Given the description of an element on the screen output the (x, y) to click on. 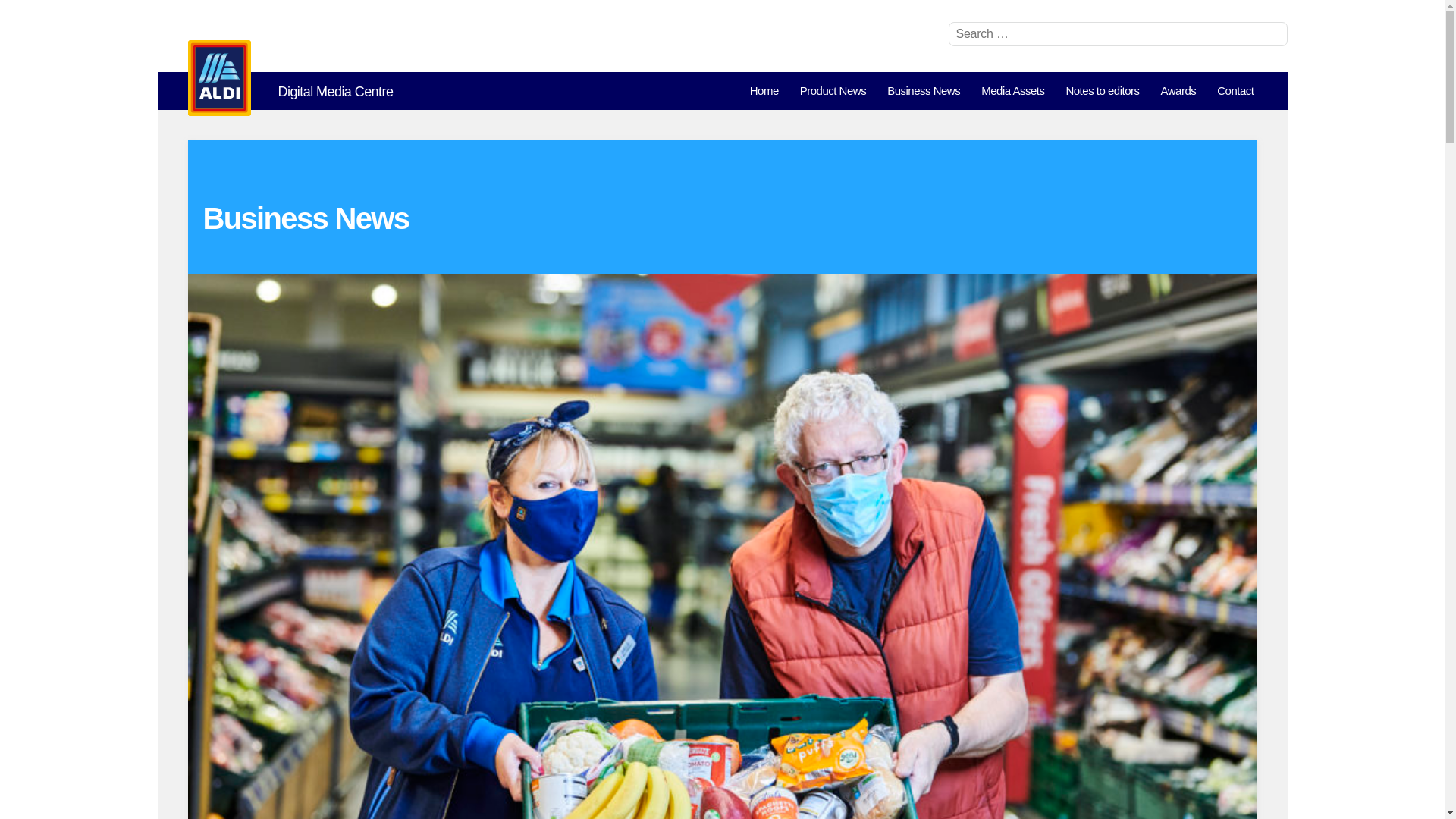
Media Assets (1012, 90)
Product News (832, 90)
Home (764, 90)
Business News (923, 90)
